Given the description of an element on the screen output the (x, y) to click on. 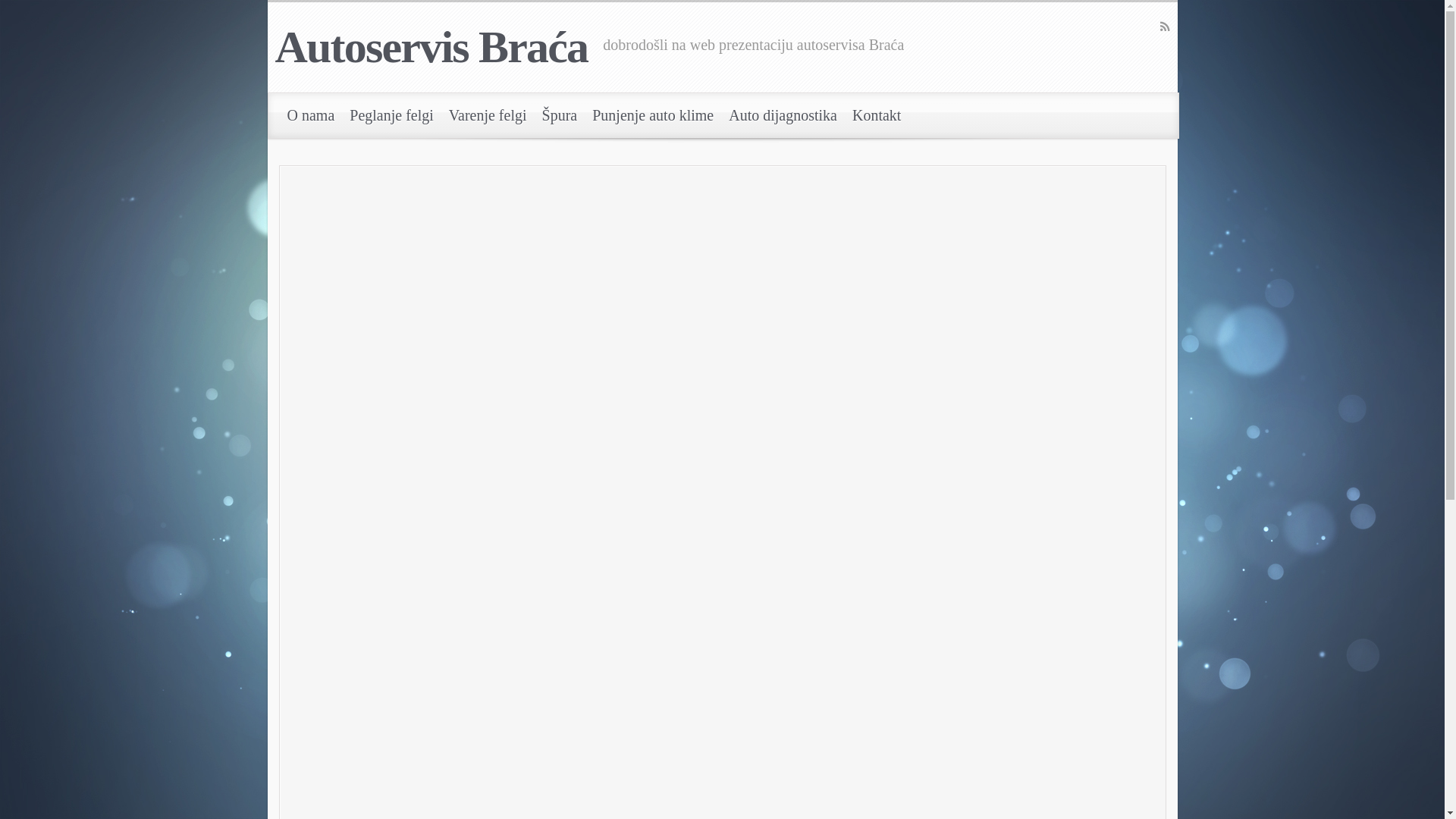
Peglanje felgi Element type: text (391, 115)
admin Element type: text (617, 252)
Home Element type: text (533, 177)
Varenje felgi Element type: text (487, 115)
Auto dijagnostika Element type: text (782, 115)
Kontakt Element type: text (876, 115)
17/04/2014 Element type: text (528, 252)
O nama Element type: text (310, 115)
Punjenje auto klime Element type: text (652, 115)
